Given the description of an element on the screen output the (x, y) to click on. 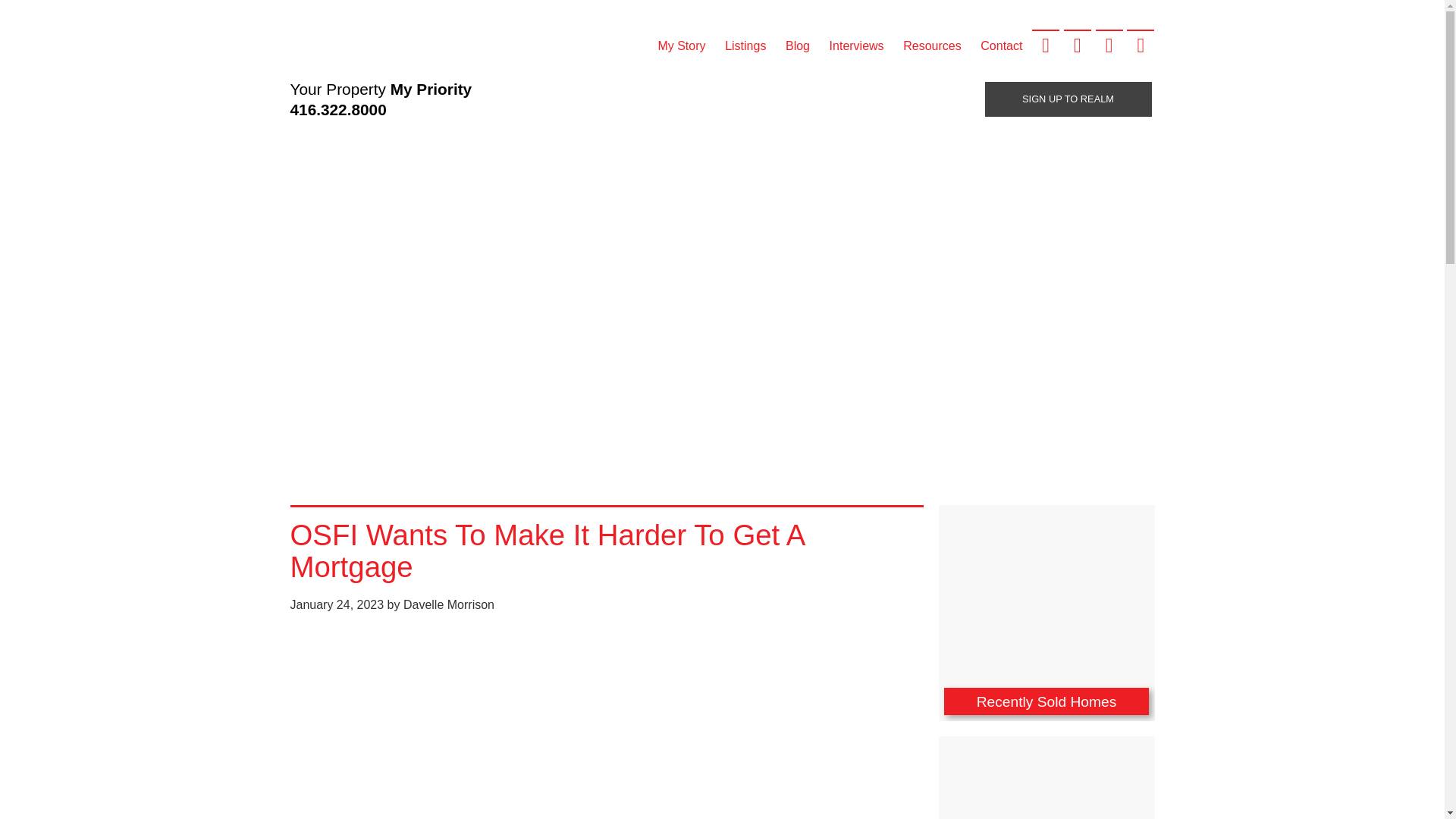
Resources (932, 45)
Contact (1001, 45)
Facebook (1045, 43)
My Story (681, 45)
Interviews (856, 45)
LinkedIn (1109, 43)
Twitter (1077, 43)
Instagram (1140, 43)
Listings (745, 45)
